Given the description of an element on the screen output the (x, y) to click on. 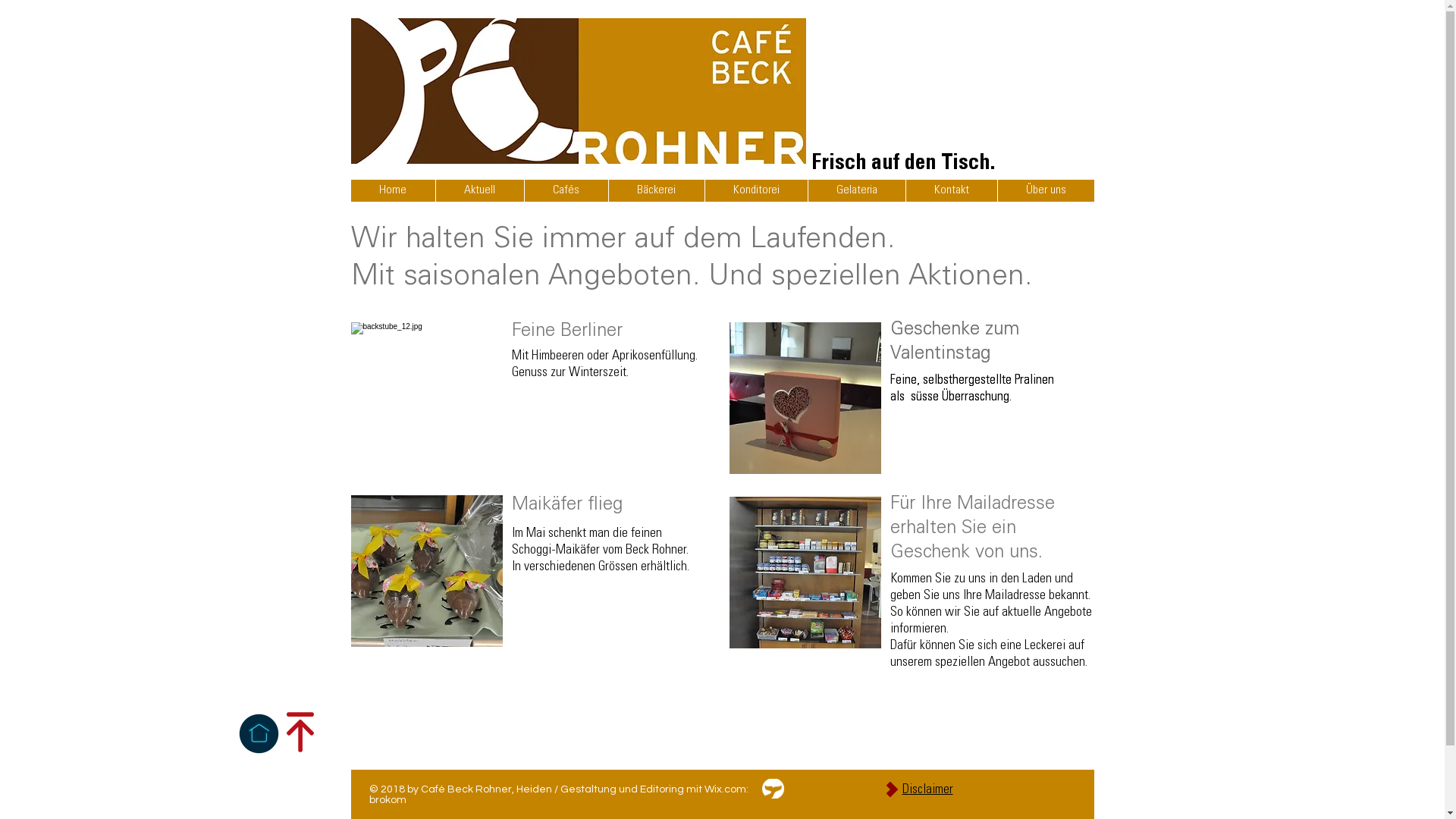
Kontakt Element type: text (951, 190)
Aktuell Element type: text (479, 190)
Gelateria Element type: text (855, 190)
Konditorei Element type: text (754, 190)
Disclaimer Element type: text (927, 788)
Home Element type: text (392, 190)
